Given the description of an element on the screen output the (x, y) to click on. 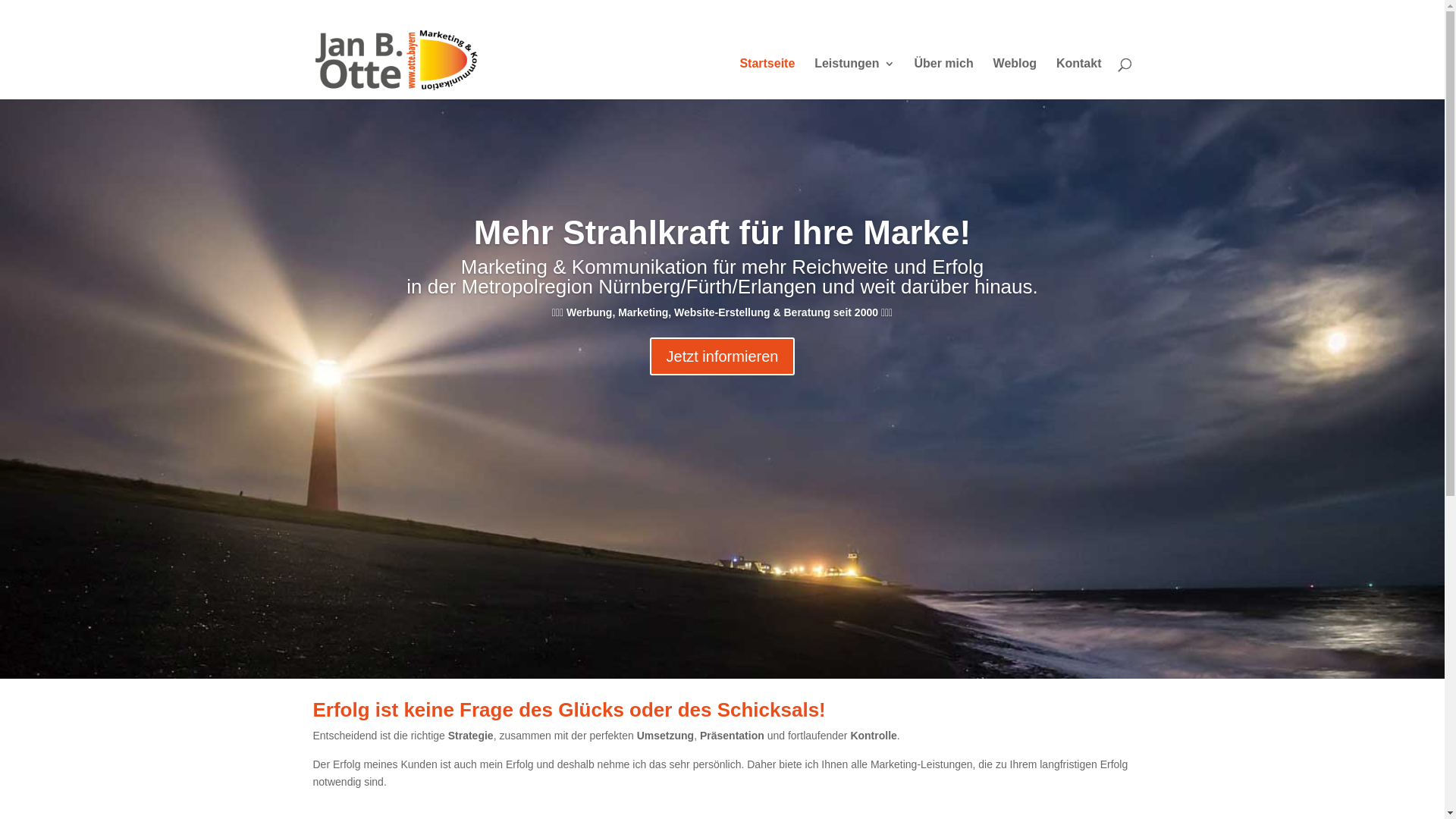
Kontakt Element type: text (1078, 78)
Leistungen Element type: text (854, 78)
Startseite Element type: text (766, 78)
Jetzt informieren Element type: text (722, 356)
Weblog Element type: text (1014, 78)
